Given the description of an element on the screen output the (x, y) to click on. 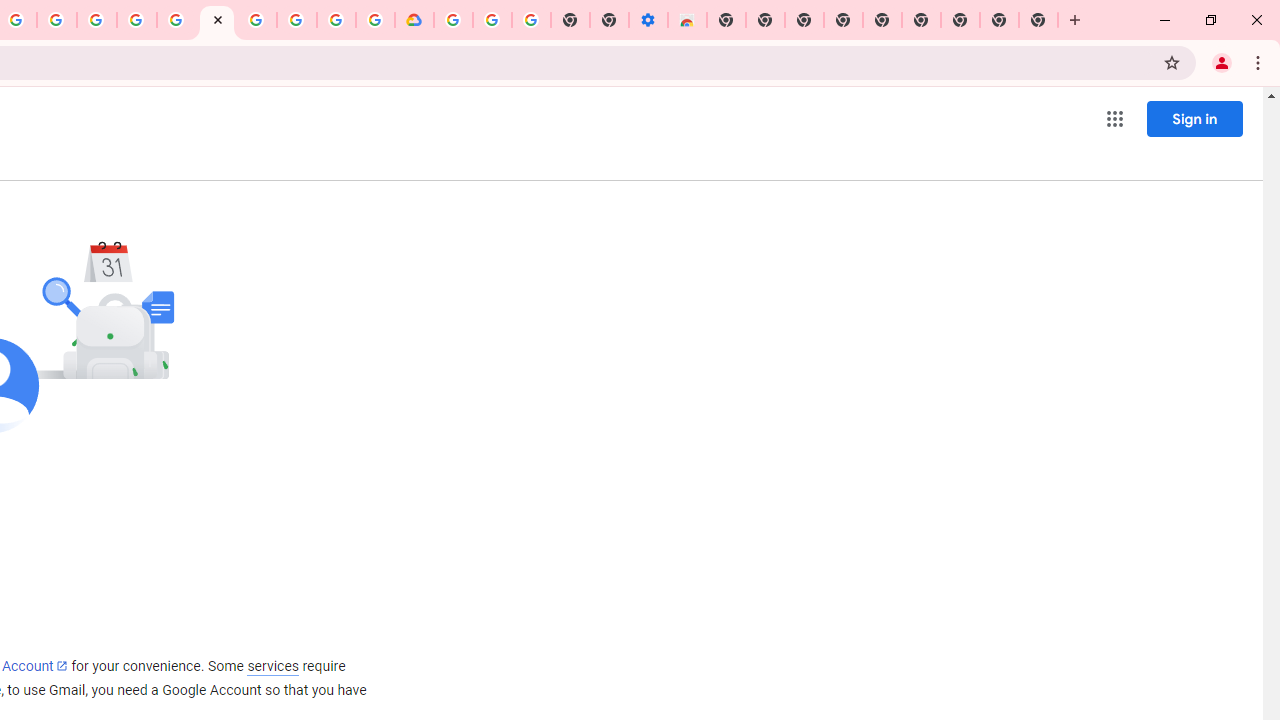
Browse the Google Chrome Community - Google Chrome Community (375, 20)
Sign in - Google Accounts (453, 20)
New Tab (726, 20)
Ad Settings (136, 20)
Turn cookies on or off - Computer - Google Account Help (531, 20)
